Given the description of an element on the screen output the (x, y) to click on. 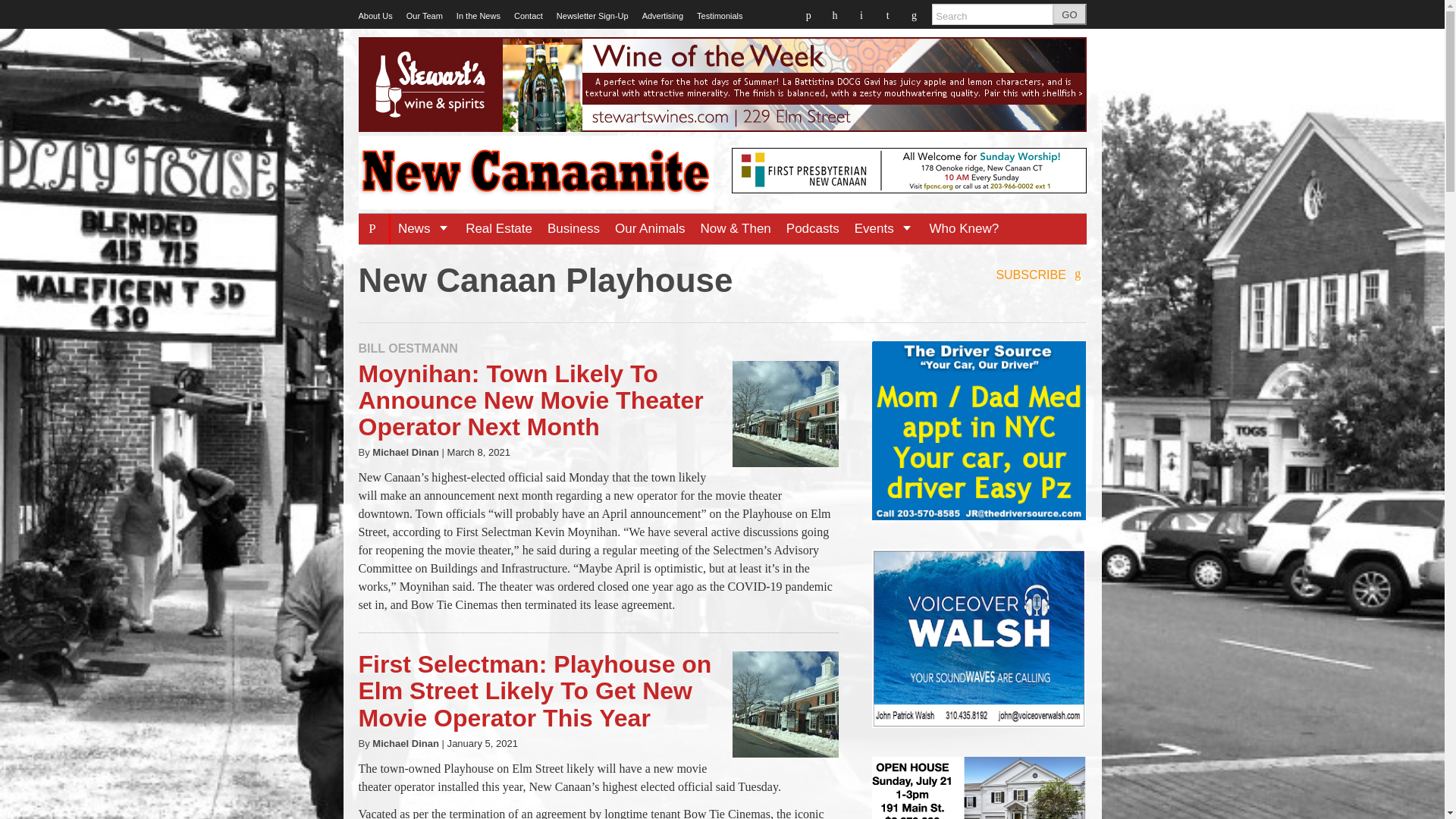
Newsletter Sign-Up (592, 15)
Contact (528, 15)
GO (1069, 14)
In the News (478, 15)
Testimonials (719, 15)
Our Team (424, 15)
Advertising (662, 15)
About Us (374, 15)
